Given the description of an element on the screen output the (x, y) to click on. 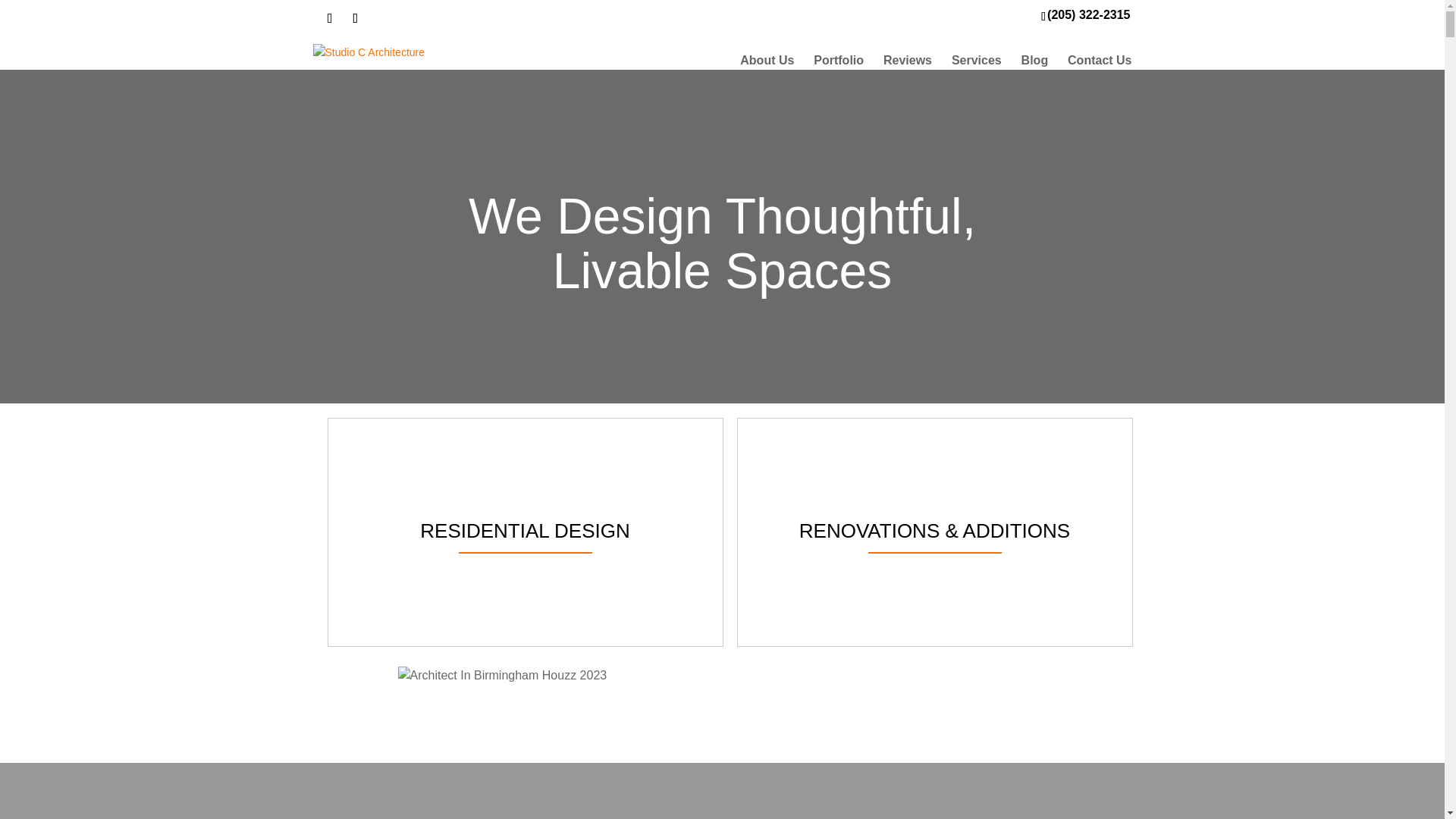
Contact Us (1099, 60)
RESIDENTIAL DESIGN (524, 532)
Reviews (907, 60)
Blog (1035, 60)
SMITH LAKE LIVING (481, 790)
About Us (766, 60)
Services (976, 60)
Portfolio (838, 60)
